Given the description of an element on the screen output the (x, y) to click on. 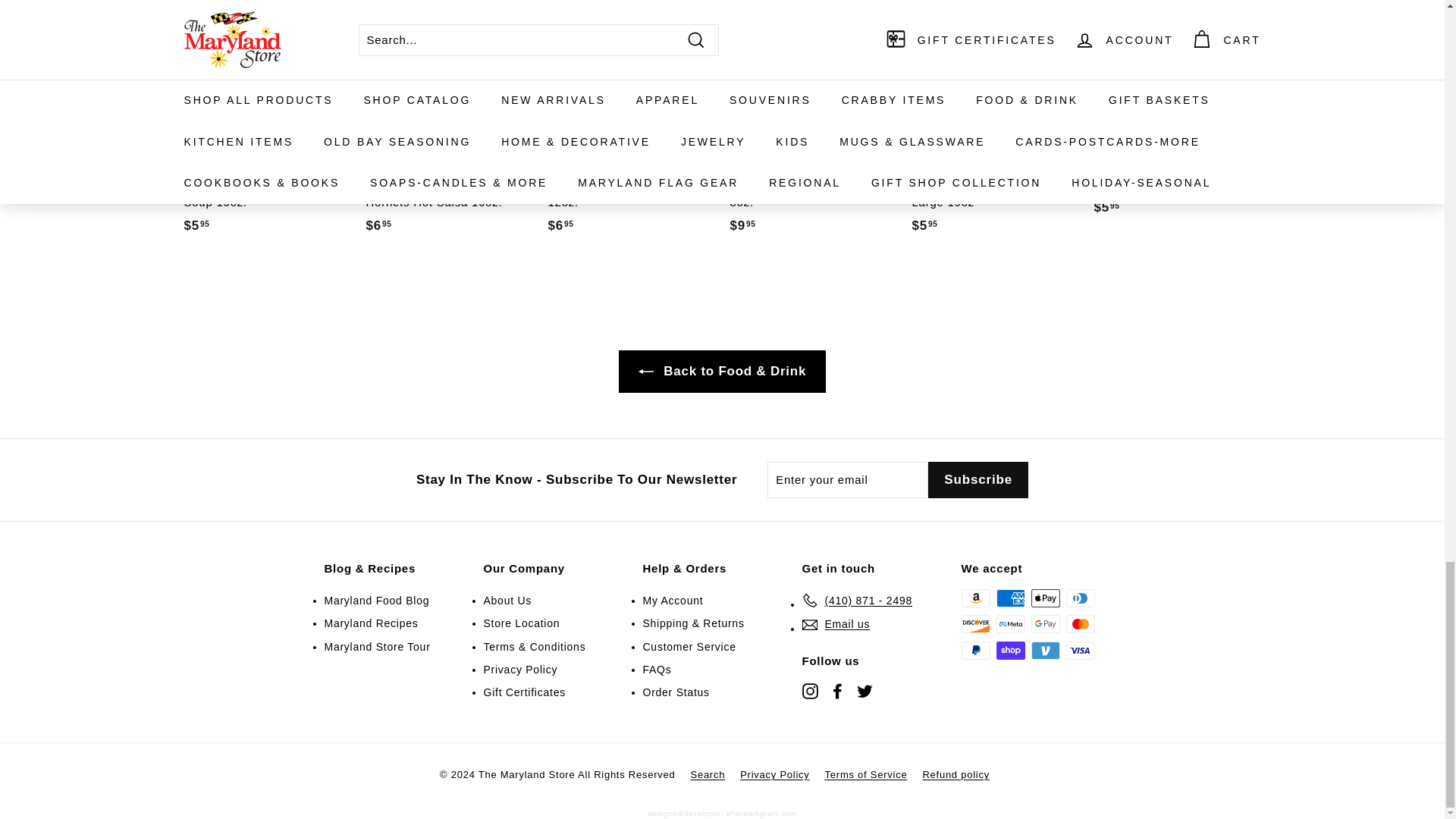
American Express (1010, 597)
Amazon (975, 597)
The Maryland Store on Facebook (837, 690)
Diners Club (1079, 597)
The Maryland Store on Twitter (864, 690)
Discover (975, 624)
Mastercard (1079, 624)
PayPal (975, 650)
Meta Pay (1010, 624)
The Maryland Store on Instagram (810, 690)
